Given the description of an element on the screen output the (x, y) to click on. 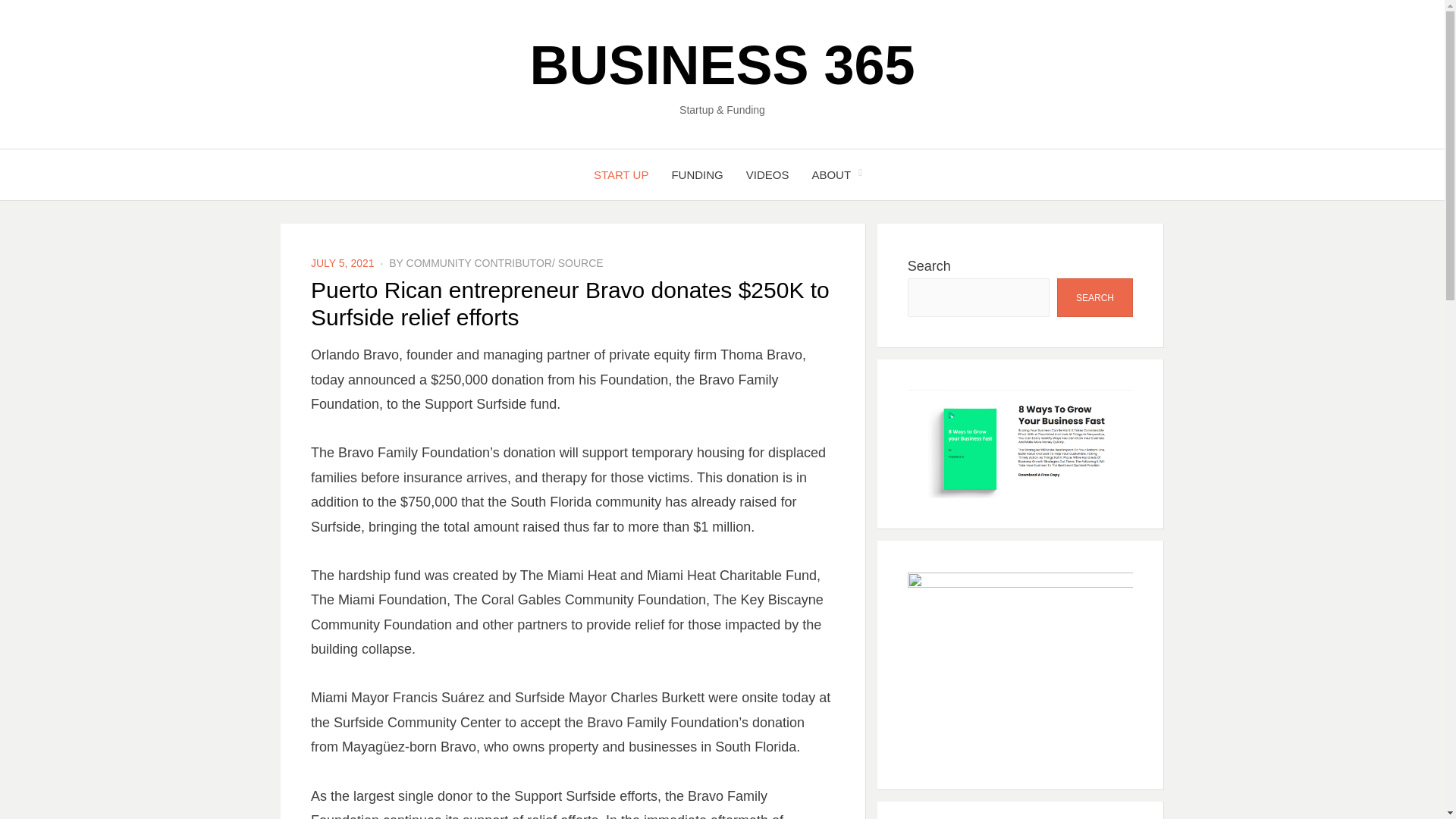
BUSINESS 365 (721, 65)
Business 365 (721, 65)
SEARCH (1094, 297)
ABOUT (830, 174)
VIDEOS (767, 174)
START UP (621, 174)
FUNDING (696, 174)
JULY 5, 2021 (342, 263)
